Given the description of an element on the screen output the (x, y) to click on. 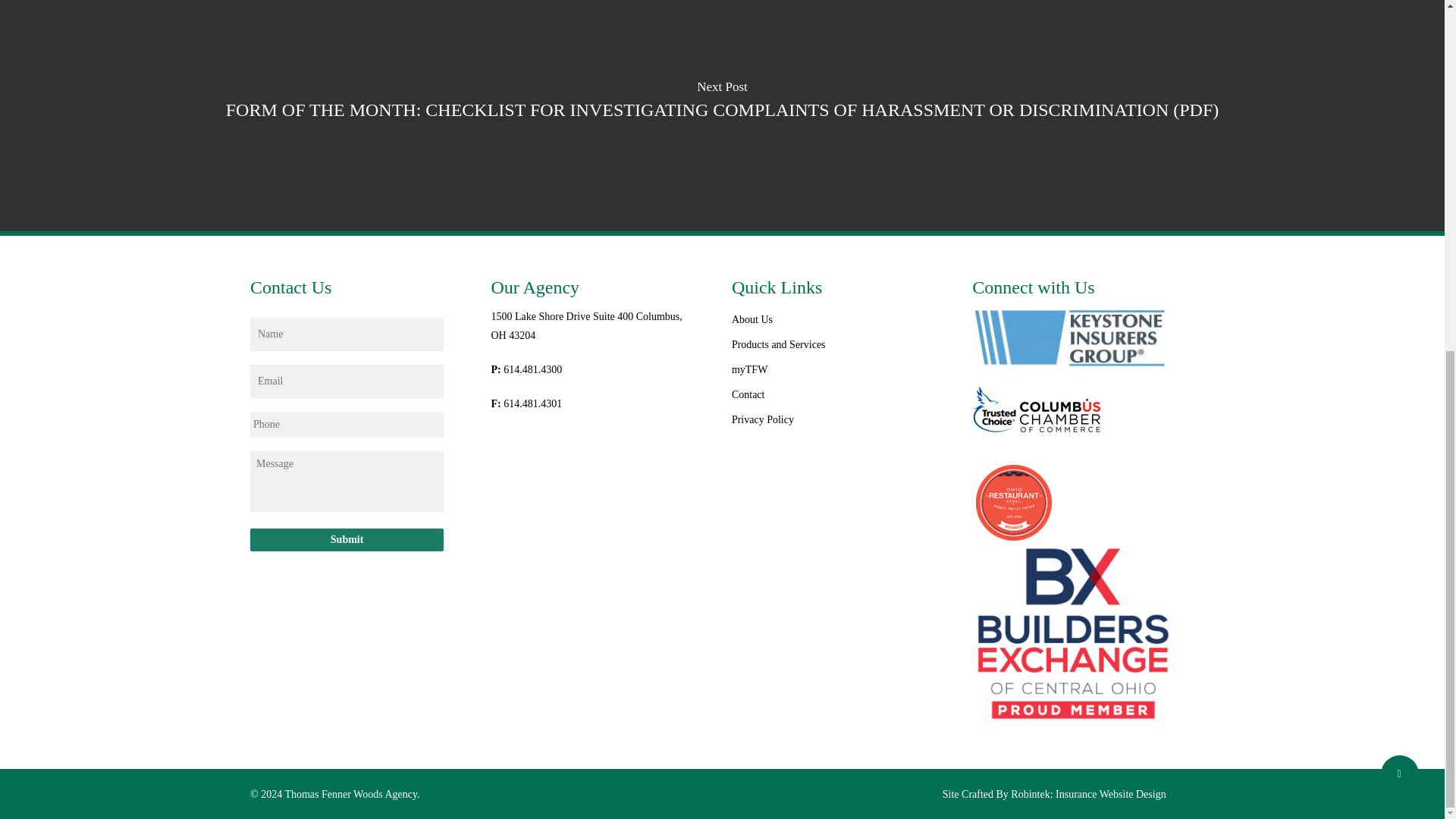
Submit (347, 539)
Submit (347, 539)
About Us (828, 319)
